Given the description of an element on the screen output the (x, y) to click on. 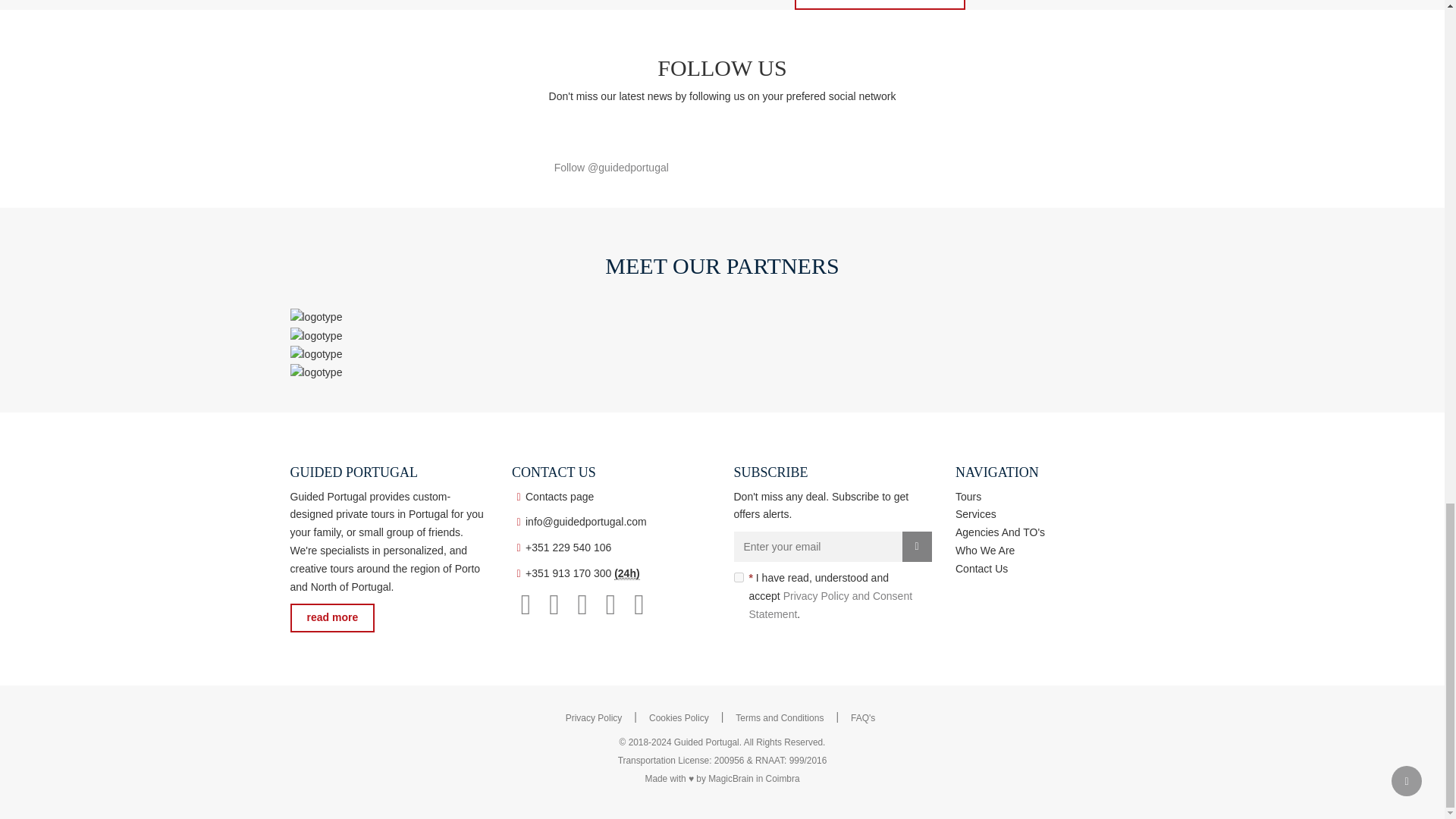
on (738, 577)
Contacts page (559, 496)
read more (331, 617)
Contact us for more details (879, 4)
